Given the description of an element on the screen output the (x, y) to click on. 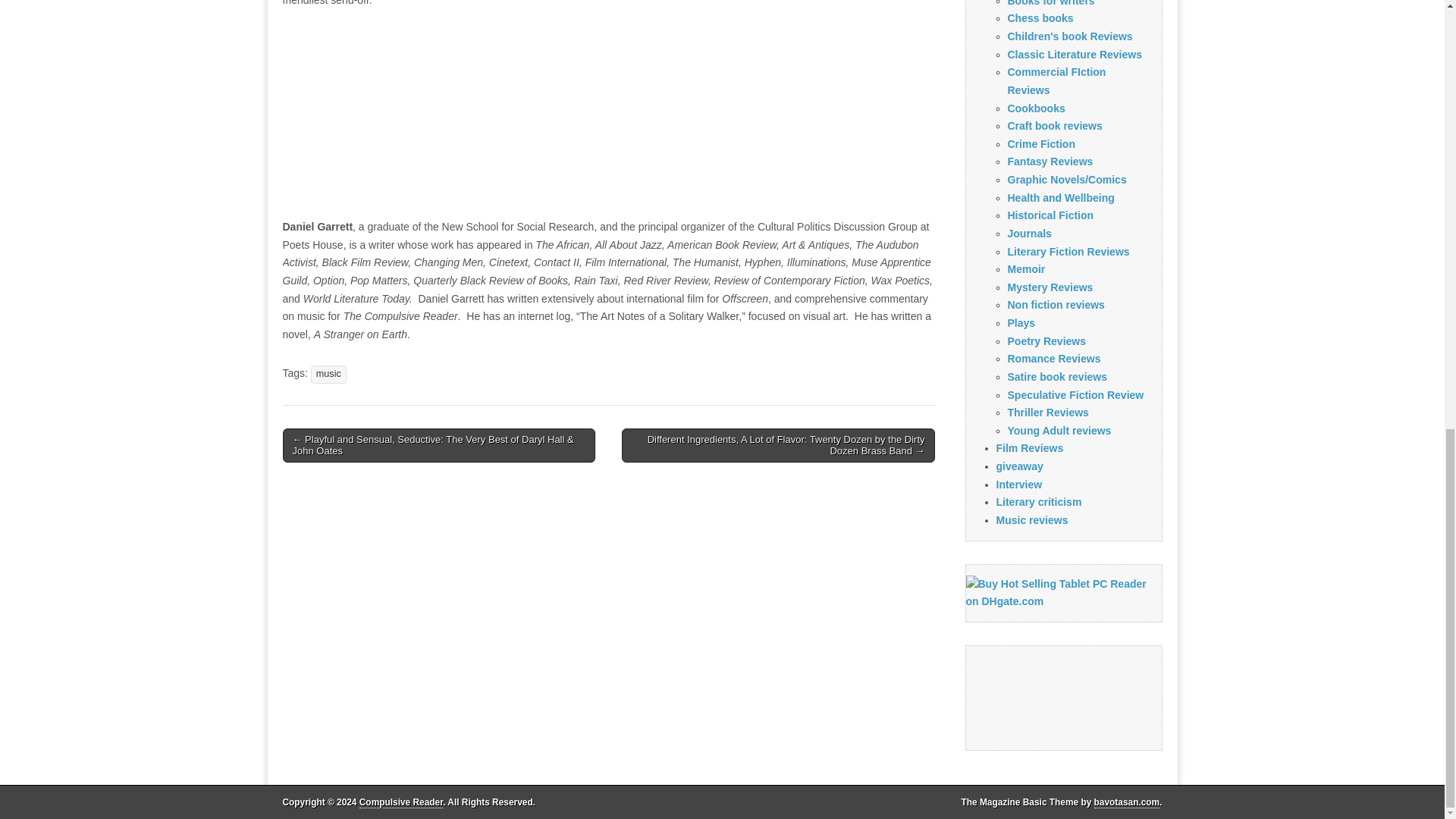
Health and Wellbeing (1060, 197)
Crime Fiction (1040, 143)
Commercial FIction Reviews (1056, 81)
music (328, 374)
Classic Literature Reviews (1074, 54)
Fantasy Reviews (1050, 161)
Cookbooks (1035, 108)
Chess books (1040, 18)
Historical Fiction (1050, 215)
Craft book reviews (1054, 125)
Children's book Reviews (1069, 36)
Journals (1029, 233)
Books for writers (1050, 3)
